Given the description of an element on the screen output the (x, y) to click on. 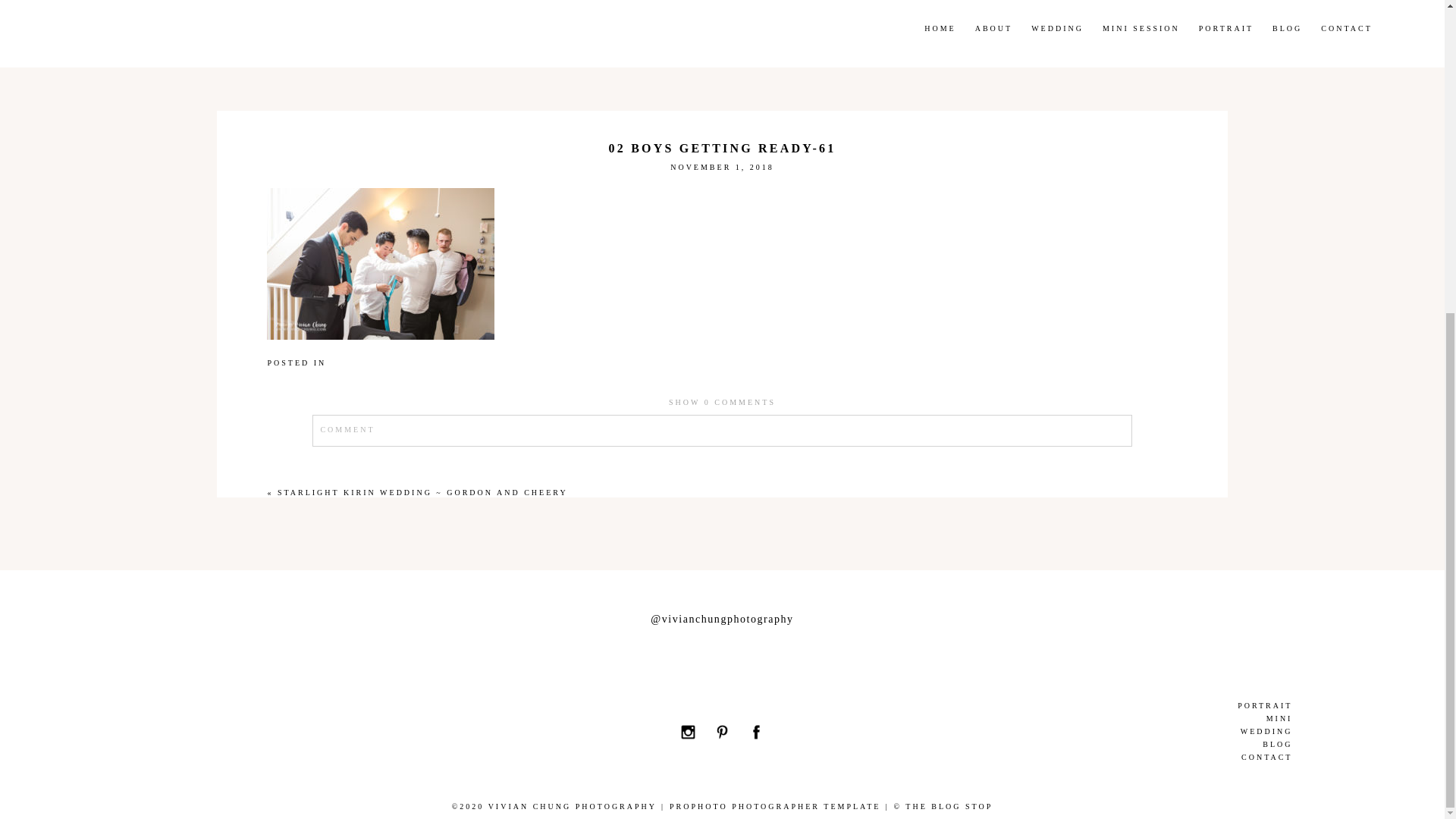
Search (1107, 4)
PROPHOTO PHOTOGRAPHER TEMPLATE (774, 806)
WEDDING (1107, 731)
BLOG (1107, 744)
MINI (1107, 718)
ProPhoto Photo Blog (774, 806)
THE BLOG STOP (948, 806)
CONTACT (1107, 757)
SHOW 0 COMMENTS (722, 402)
PORTRAIT (1107, 705)
Search (267, 732)
